Given the description of an element on the screen output the (x, y) to click on. 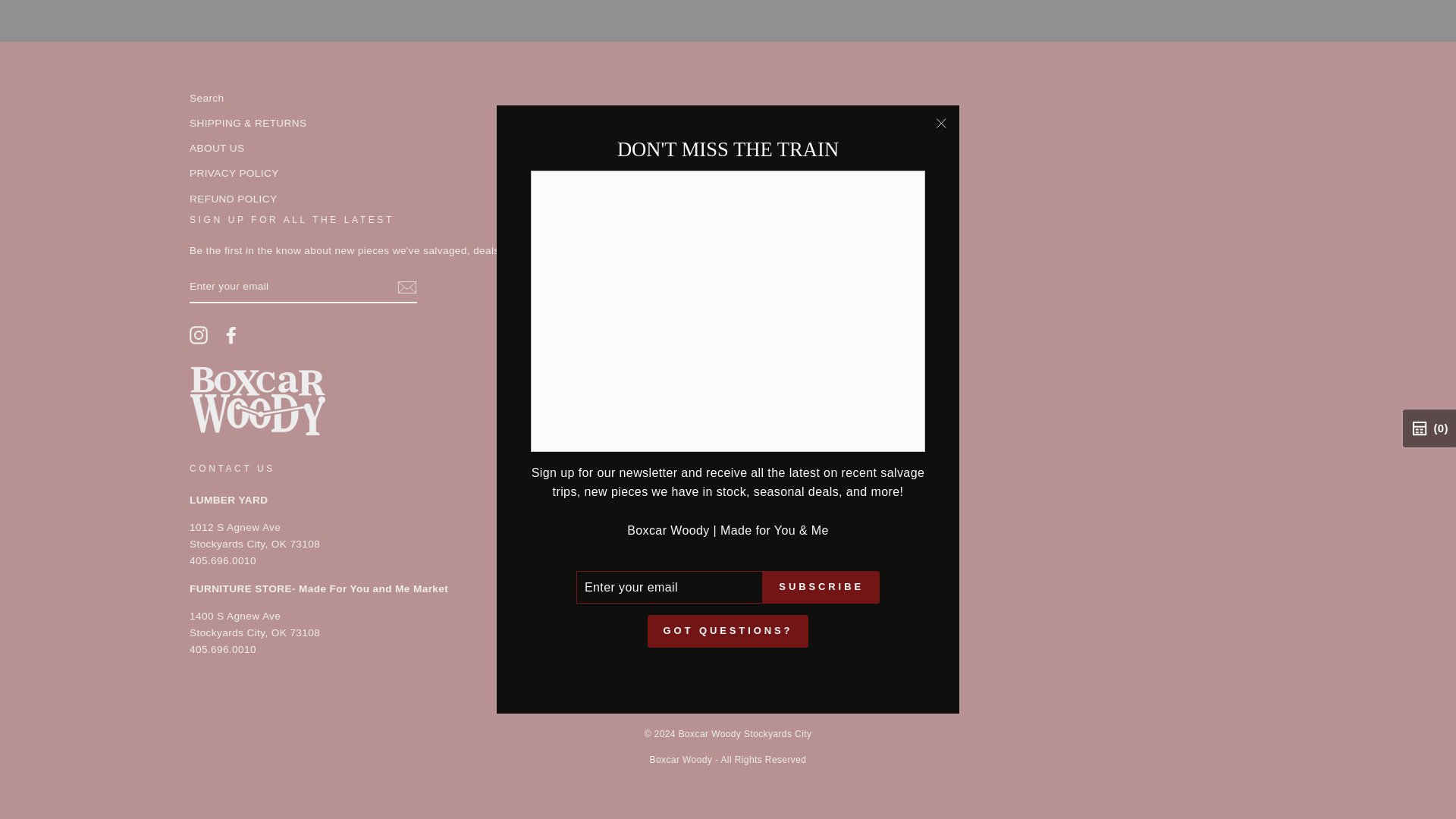
Shop Pay (785, 701)
American Express (631, 701)
Discover (670, 701)
Meta Pay (708, 701)
Mastercard (746, 701)
Visa (823, 701)
